Given the description of an element on the screen output the (x, y) to click on. 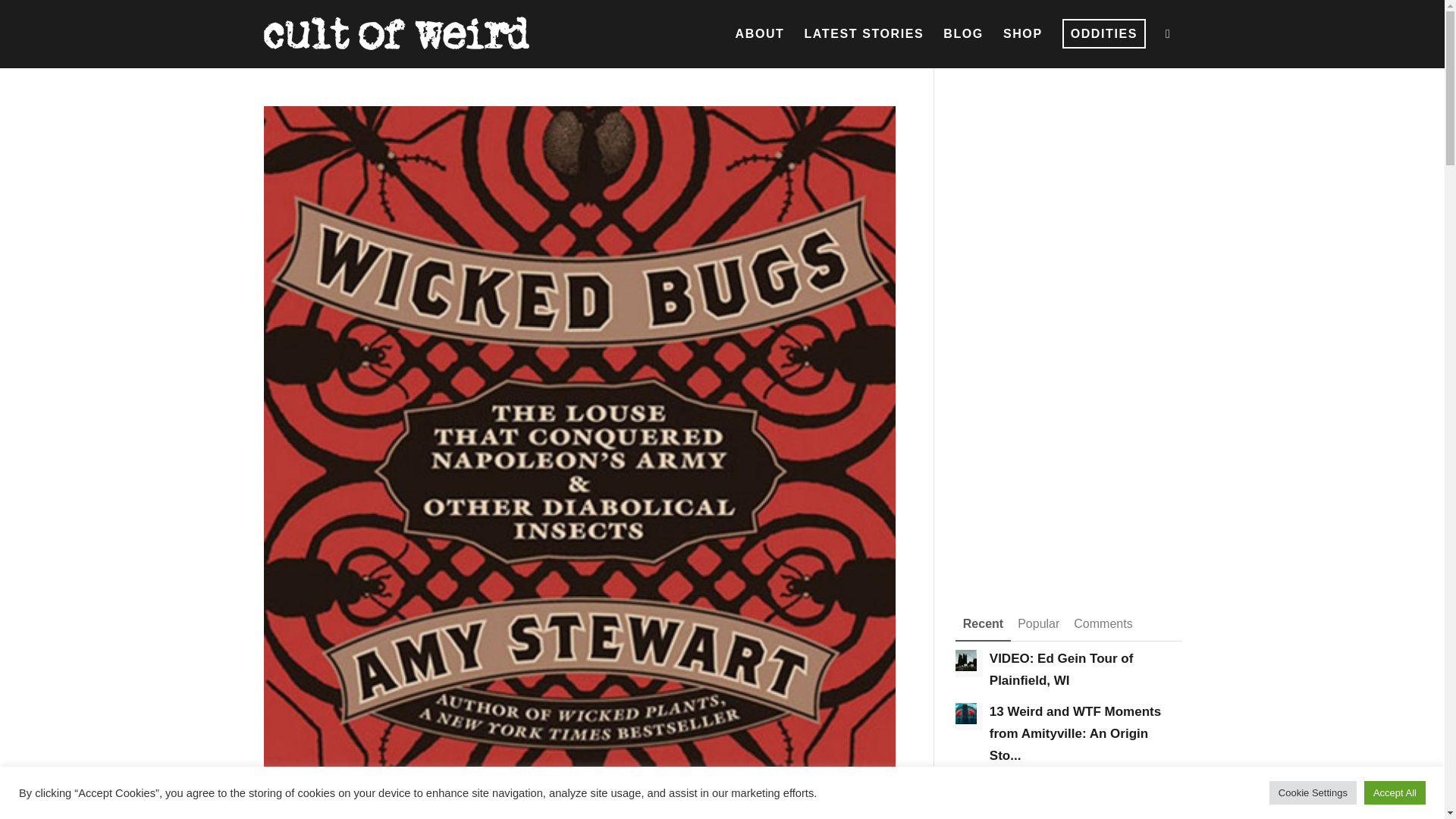
Cult of Weird (396, 28)
ABOUT (759, 33)
LATEST STORIES (863, 33)
Cult of Weird (396, 33)
13 Weird and WTF Moments from Amityville: An Origin Sto... (1075, 733)
ODDITIES (1104, 33)
VIDEO: Ed Gein Tour of Plainfield, WI (1062, 669)
